Given the description of an element on the screen output the (x, y) to click on. 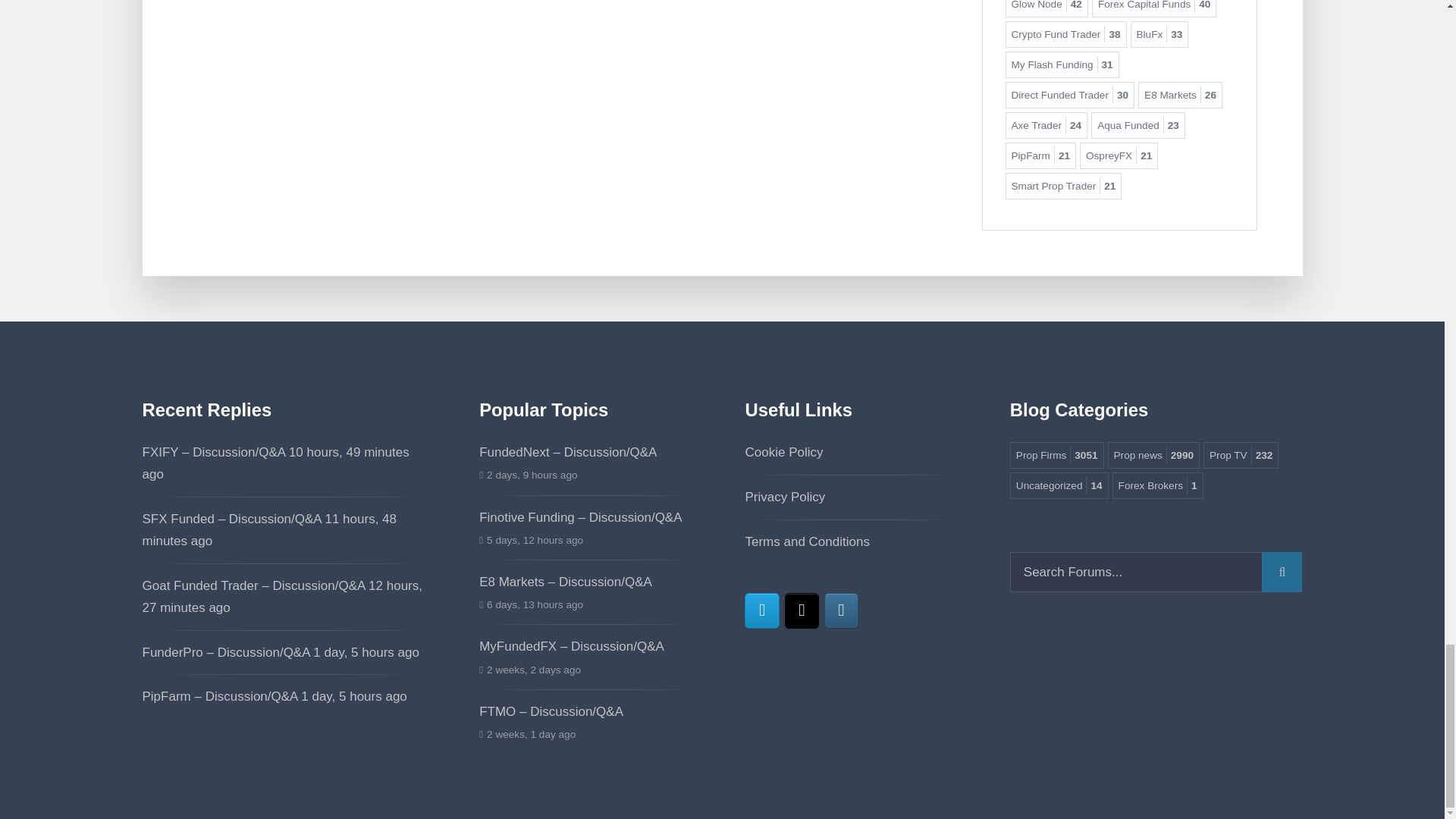
Forex Prop Forum on X Twitter (801, 610)
Forex Prop Forum on Instagram (841, 610)
Forex Prop Forum on Telegram Plane (761, 610)
